Given the description of an element on the screen output the (x, y) to click on. 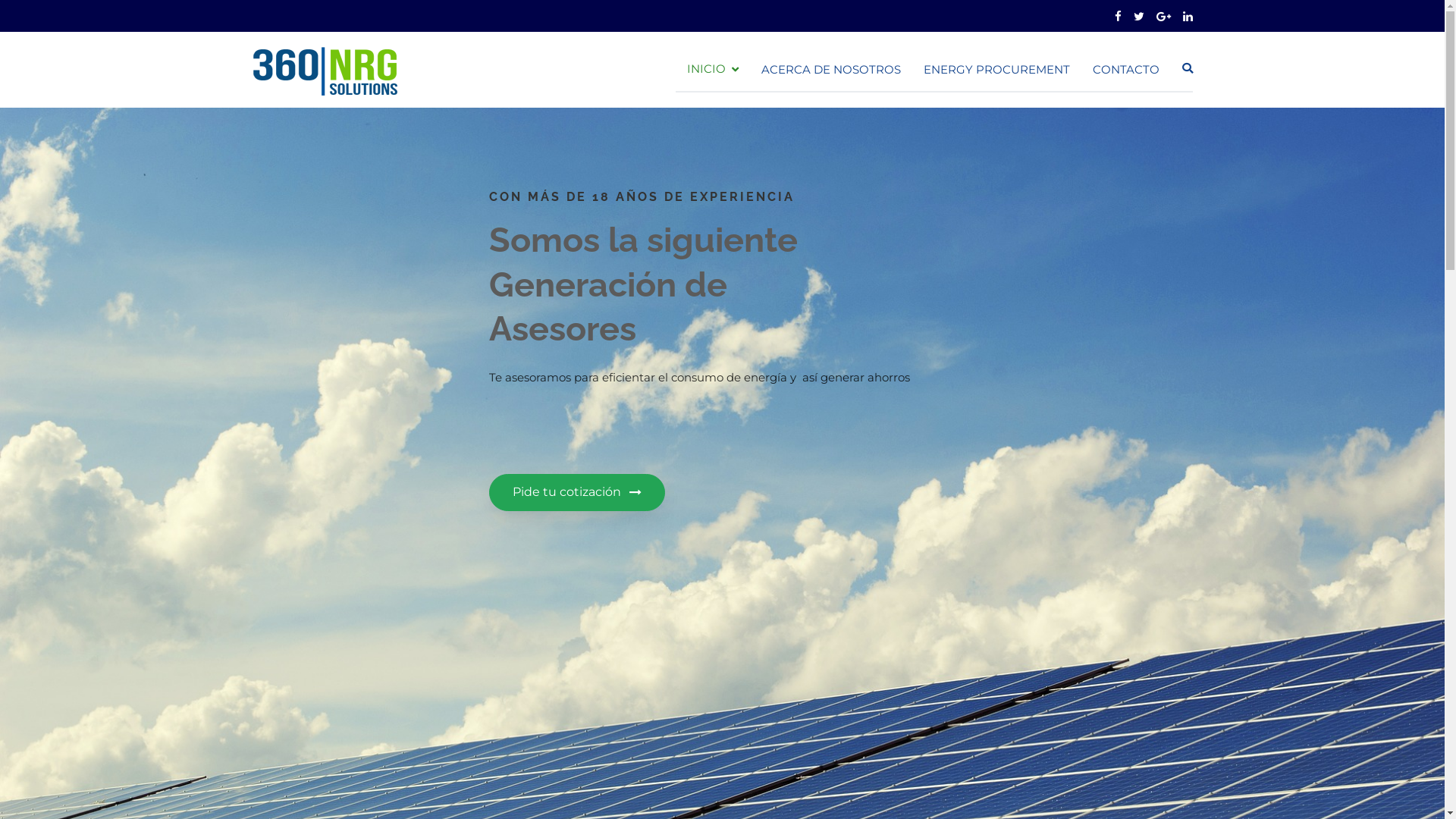
ENERGY PROCUREMENT Element type: text (996, 69)
ACERCA DE NOSOTROS Element type: text (830, 69)
INICIO Element type: text (712, 69)
CONTACTO Element type: text (1125, 69)
360NRGSolutions Element type: text (471, 79)
